Given the description of an element on the screen output the (x, y) to click on. 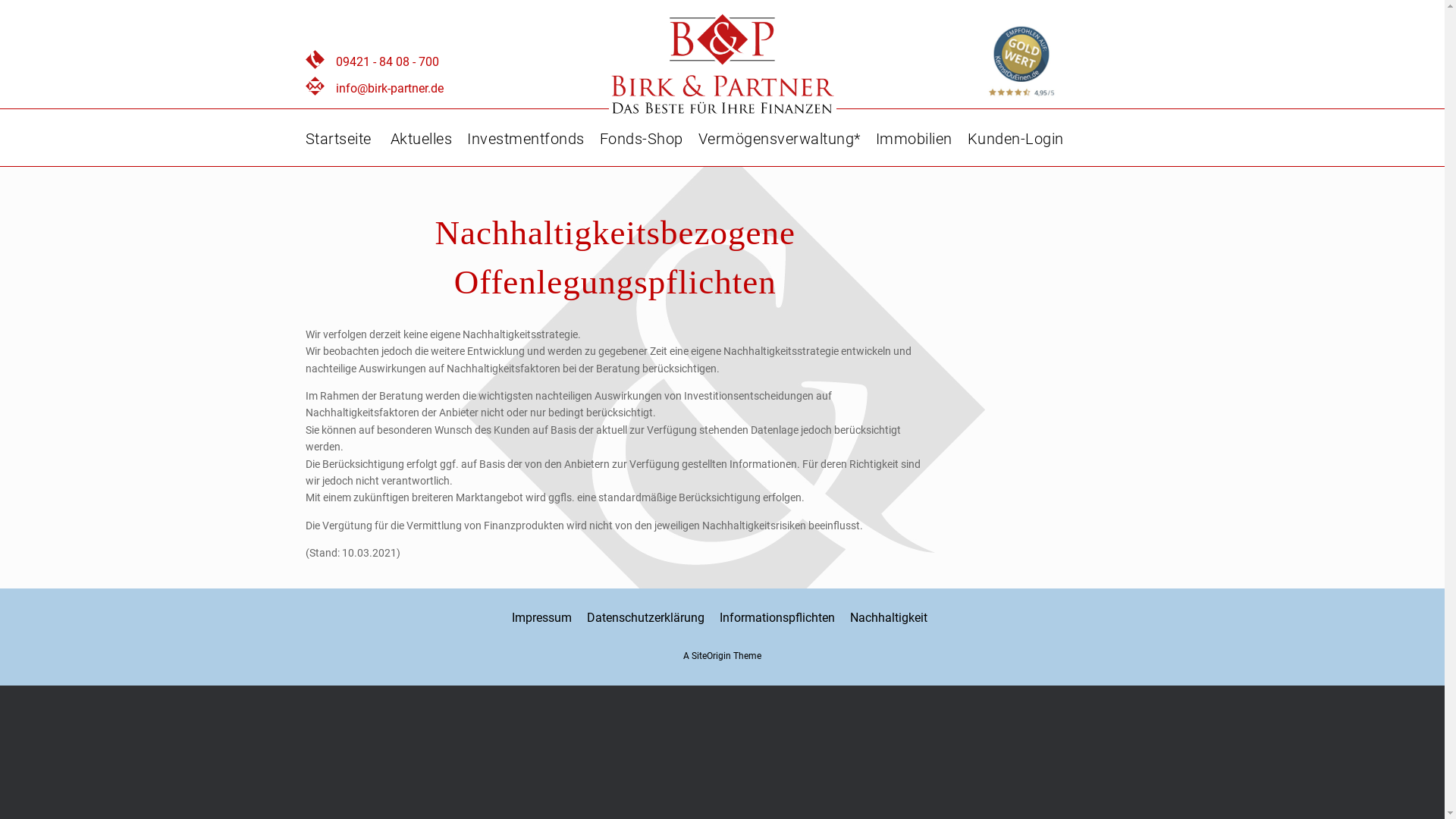
Startseite Element type: text (337, 138)
Immobilien Element type: text (913, 138)
SiteOrigin Element type: text (711, 655)
Investmentfonds Element type: text (525, 138)
Impressum Element type: text (541, 617)
Fonds-Shop Element type: text (640, 138)
Nachhaltigkeit Element type: text (888, 617)
Informationspflichten Element type: text (776, 617)
09421 - 84 08 - 700 Element type: text (386, 61)
info@birk-partner.de Element type: text (388, 88)
Aktuelles Element type: text (420, 138)
Kunden-Login Element type: text (1015, 138)
vermoegen.bayern Element type: hover (721, 65)
